Given the description of an element on the screen output the (x, y) to click on. 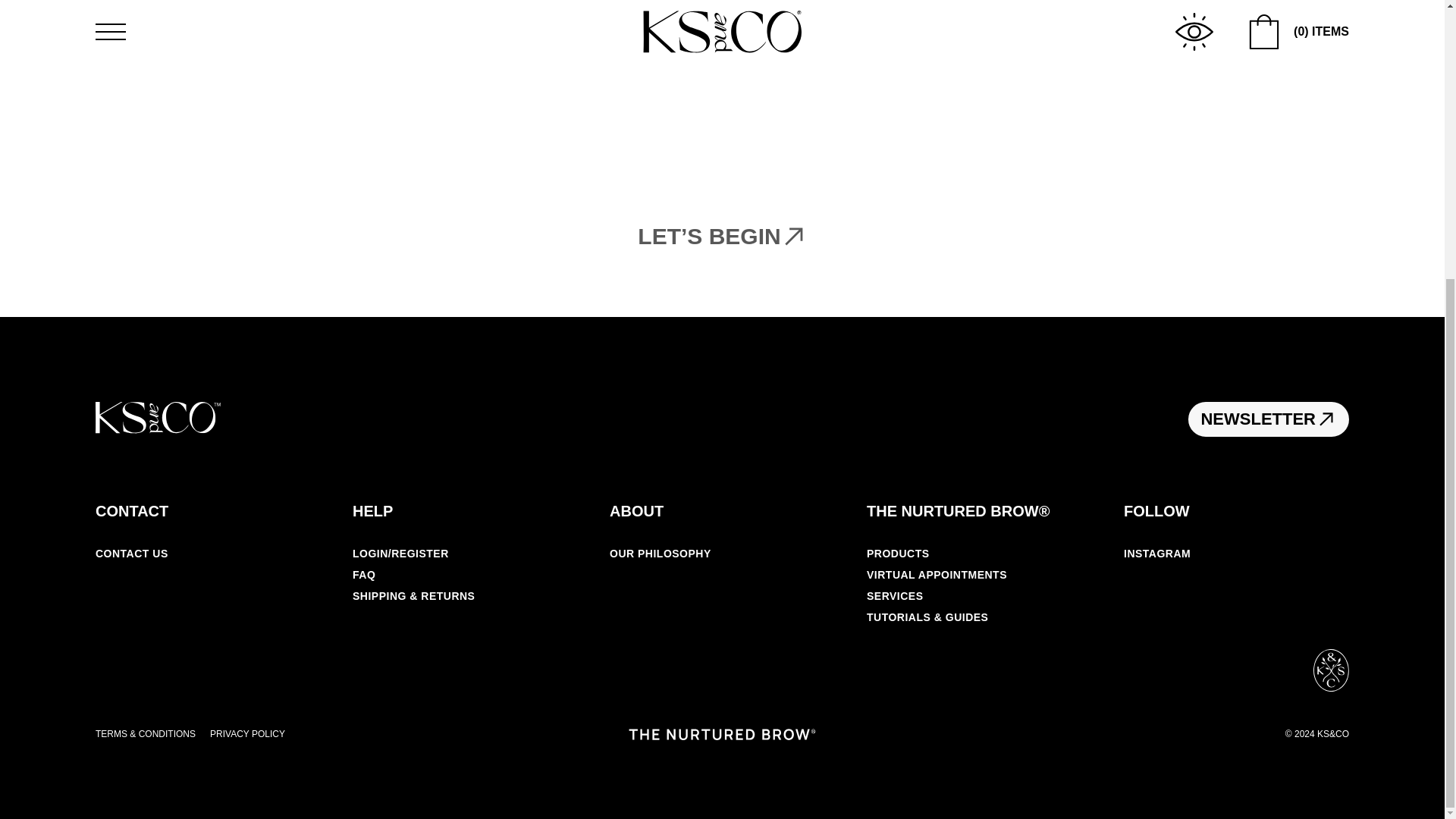
SERVICES (894, 595)
VIRTUAL APPOINTMENTS (936, 574)
PRODUCTS (898, 553)
FAQ (363, 574)
INSTAGRAM (1157, 553)
CONTACT US (132, 553)
NEWSLETTER (1268, 419)
OUR PHILOSOPHY (660, 553)
